Given the description of an element on the screen output the (x, y) to click on. 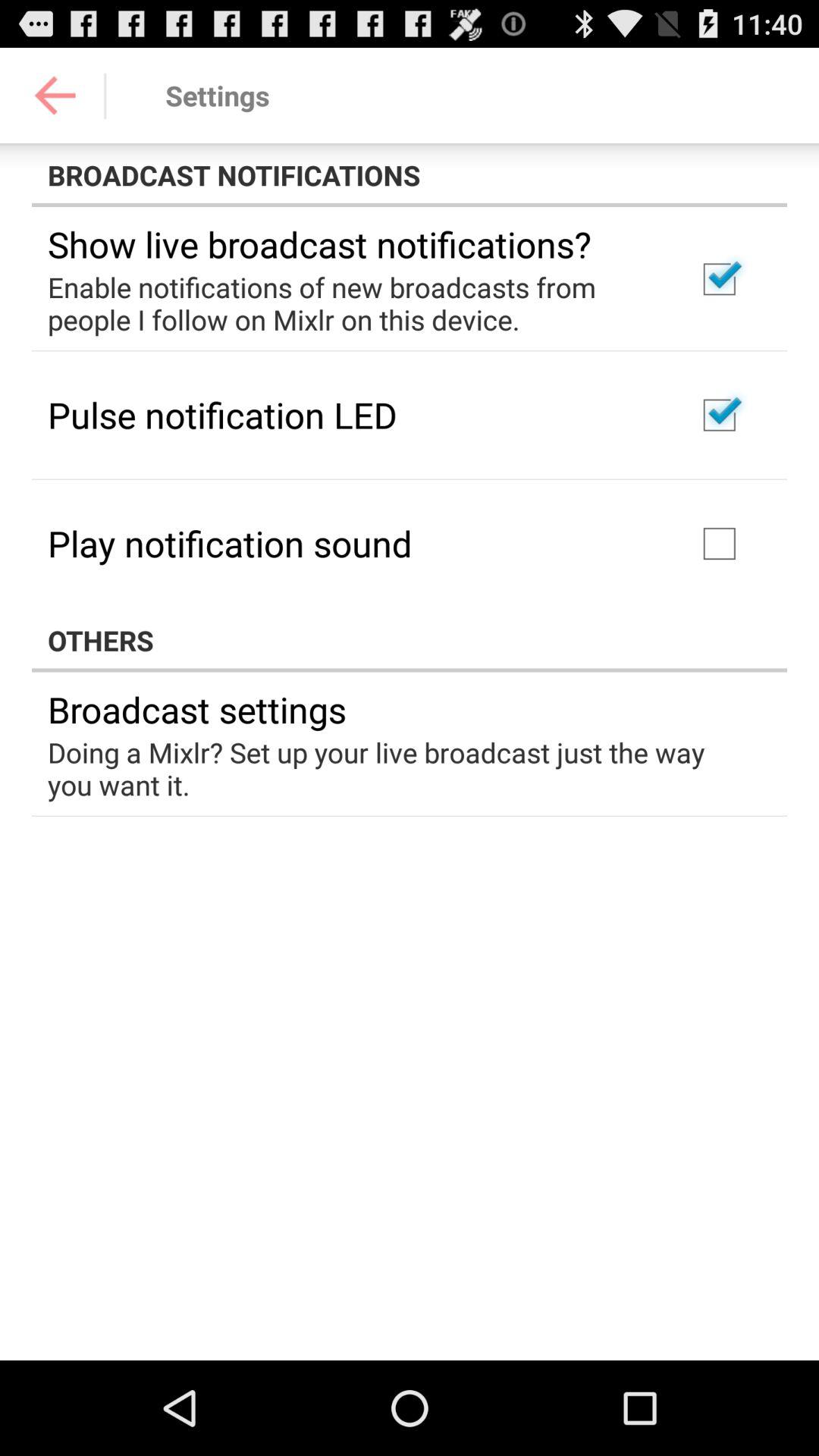
launch the broadcast settings app (196, 709)
